Given the description of an element on the screen output the (x, y) to click on. 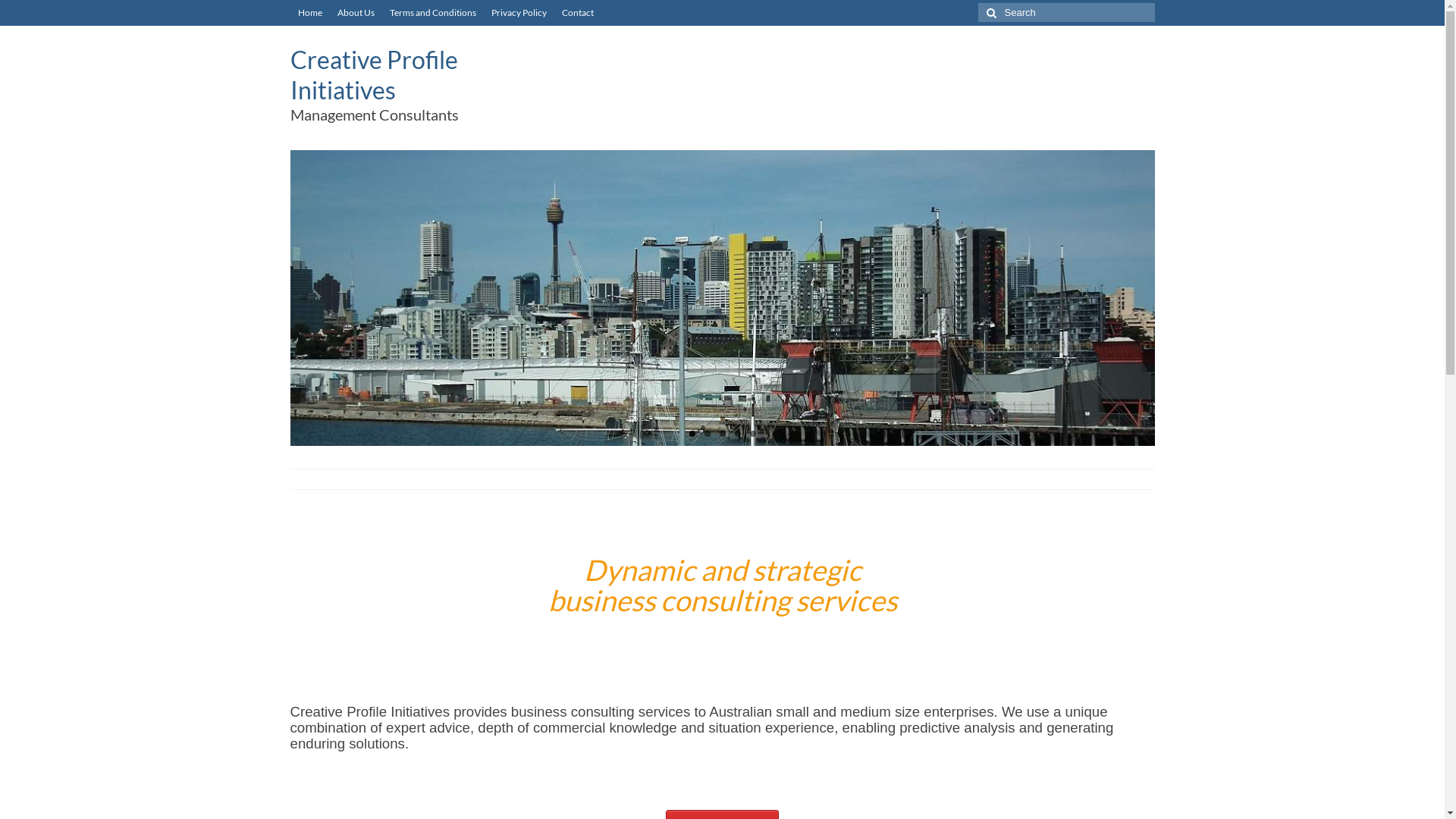
4 Element type: text (737, 433)
1 Element type: text (691, 433)
2 Element type: text (706, 433)
Contact Element type: text (576, 12)
Privacy Policy Element type: text (518, 12)
Terms and Conditions Element type: text (432, 12)
Home Element type: text (309, 12)
3 Element type: text (721, 433)
5 Element type: text (752, 433)
About Us Element type: text (355, 12)
Creative Profile Initiatives Element type: text (373, 74)
